Given the description of an element on the screen output the (x, y) to click on. 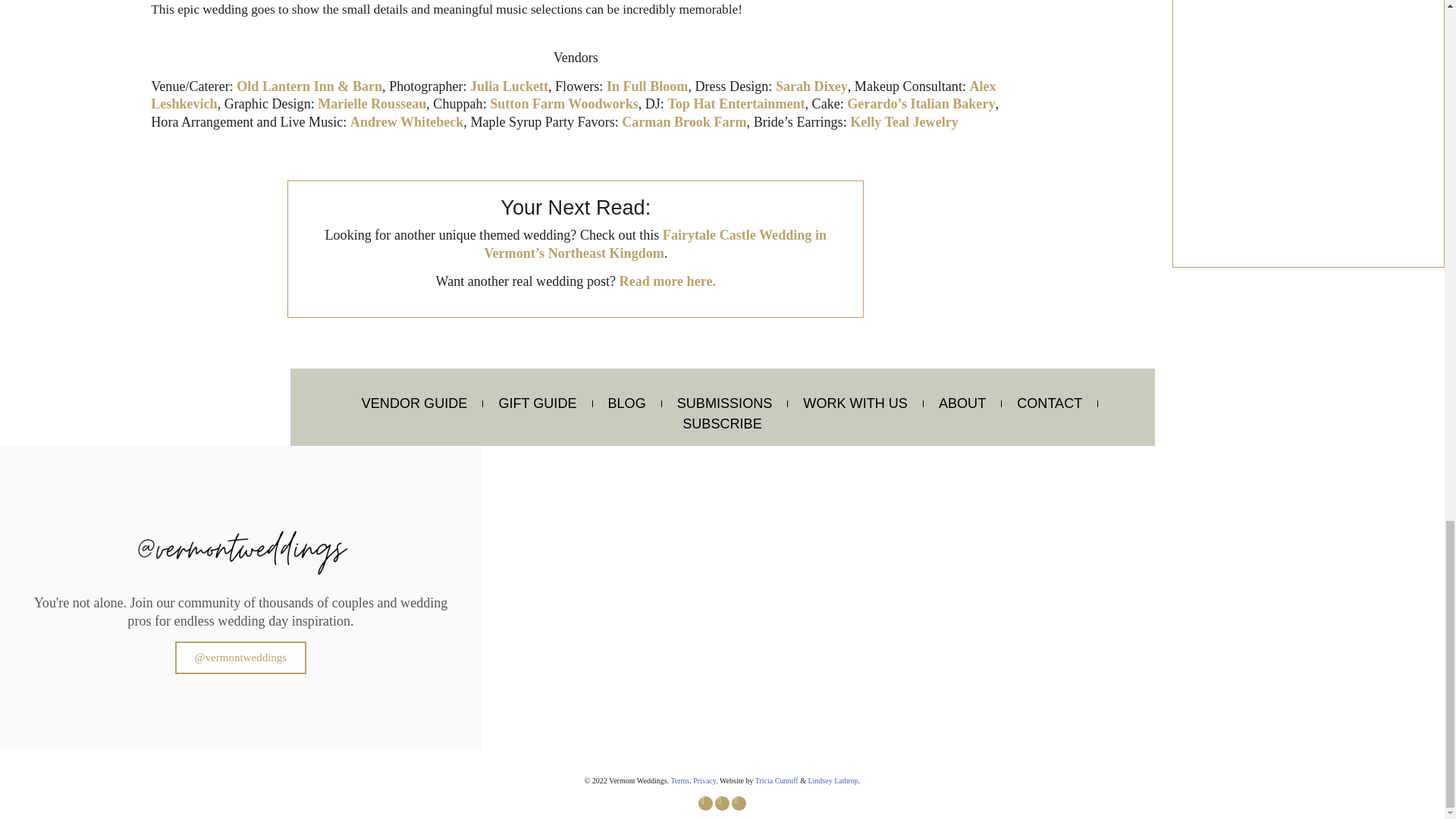
Spotify Embed: Our Members Favorites (1308, 115)
